Given the description of an element on the screen output the (x, y) to click on. 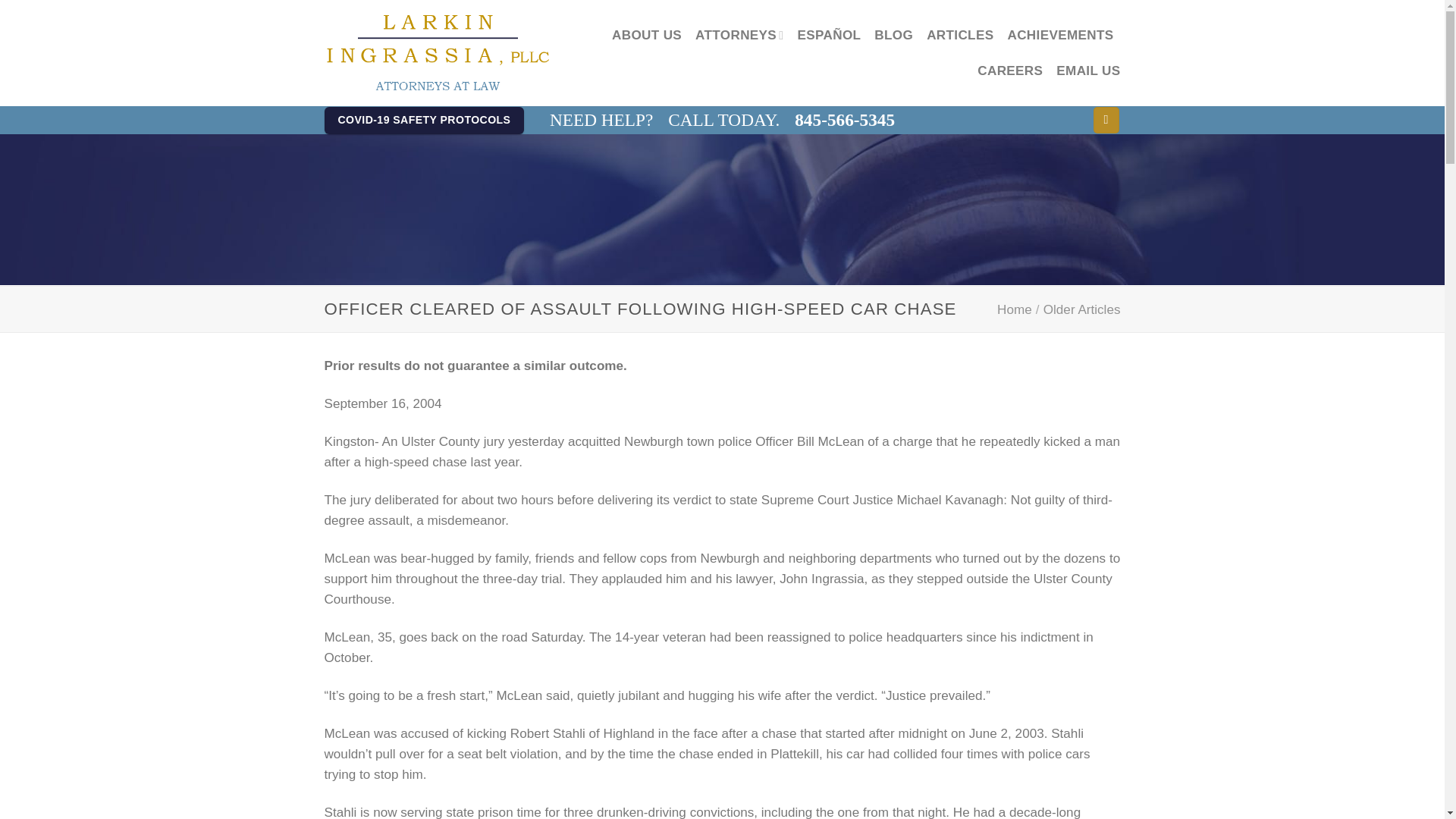
CAREERS (1009, 70)
BLOG (893, 35)
845-566-5345 (844, 120)
ARTICLES (959, 35)
845 Law - Criminal Defense Law Firm (437, 53)
ACHIEVEMENTS (1060, 35)
Older Articles (1082, 309)
ABOUT US (646, 35)
EMAIL US (1088, 70)
COVID-19 SAFETY PROTOCOLS (424, 120)
